Given the description of an element on the screen output the (x, y) to click on. 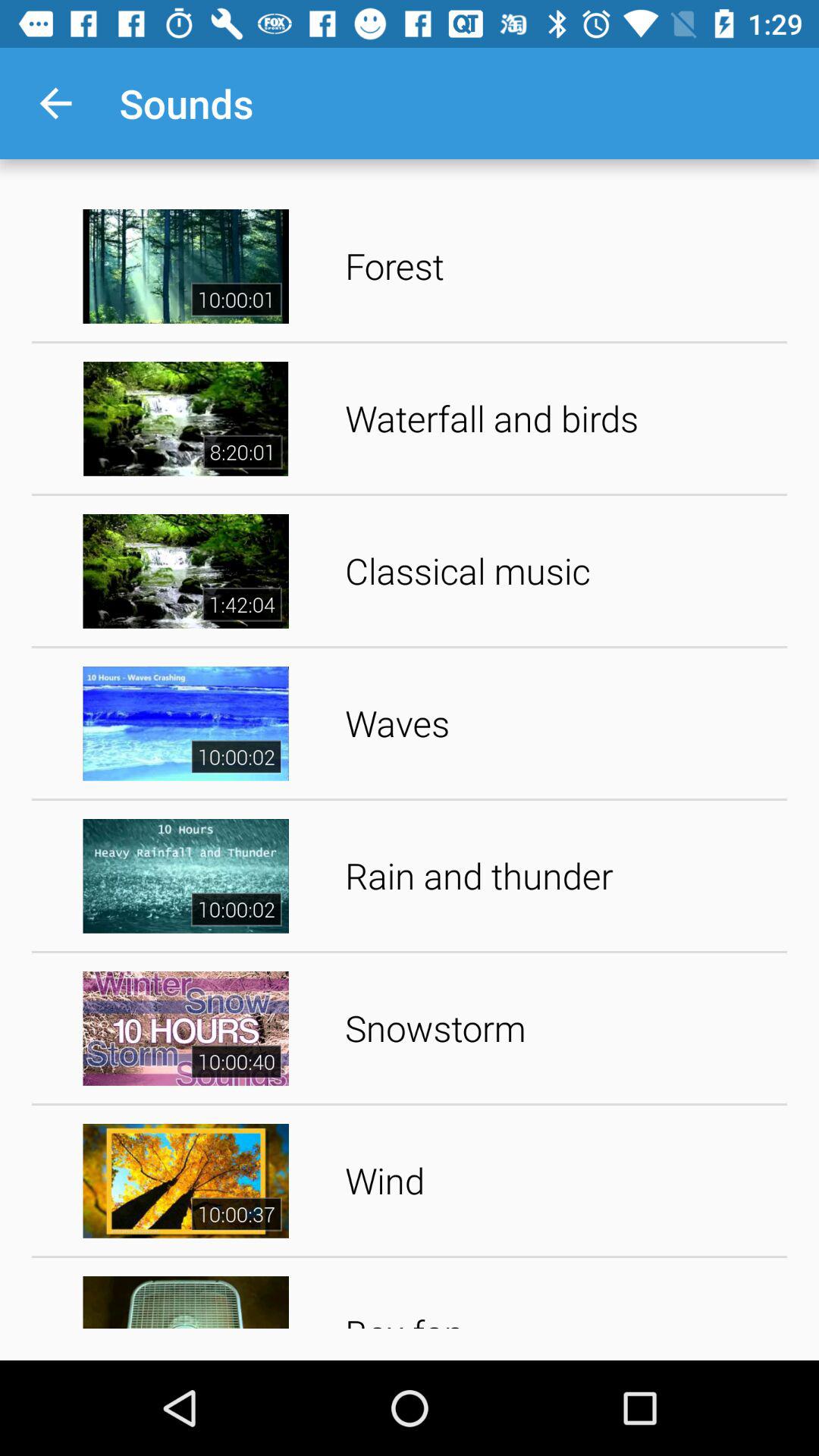
select the video image just below the video image of wind (185, 1298)
choose video left to wind (185, 1181)
click on video left side of classical music (185, 571)
